Given the description of an element on the screen output the (x, y) to click on. 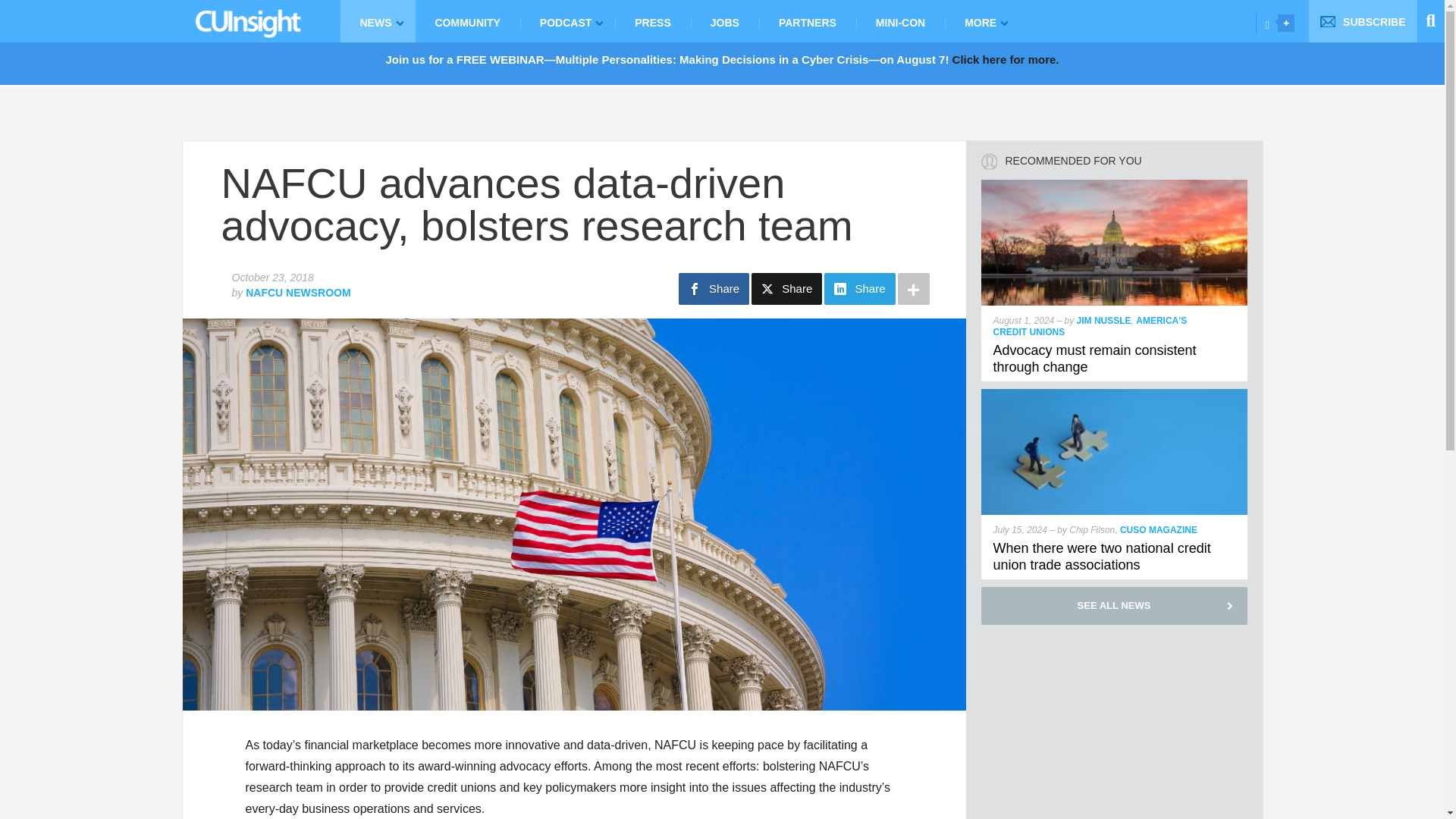
Advocacy must remain consistent through change (1094, 358)
COMMUNITY (466, 21)
Opener (1286, 22)
PARTNERS (807, 21)
SUBSCRIBE (1362, 21)
Share (786, 288)
When there were two national credit union trade associations (1101, 556)
PODCAST (566, 21)
JOBS (724, 21)
PRESS (652, 21)
NEWS (376, 21)
When there were two national credit union trade associations (1114, 395)
NAFCU NEWSROOM (298, 292)
MINI-CON (900, 21)
MORE (982, 21)
